Given the description of an element on the screen output the (x, y) to click on. 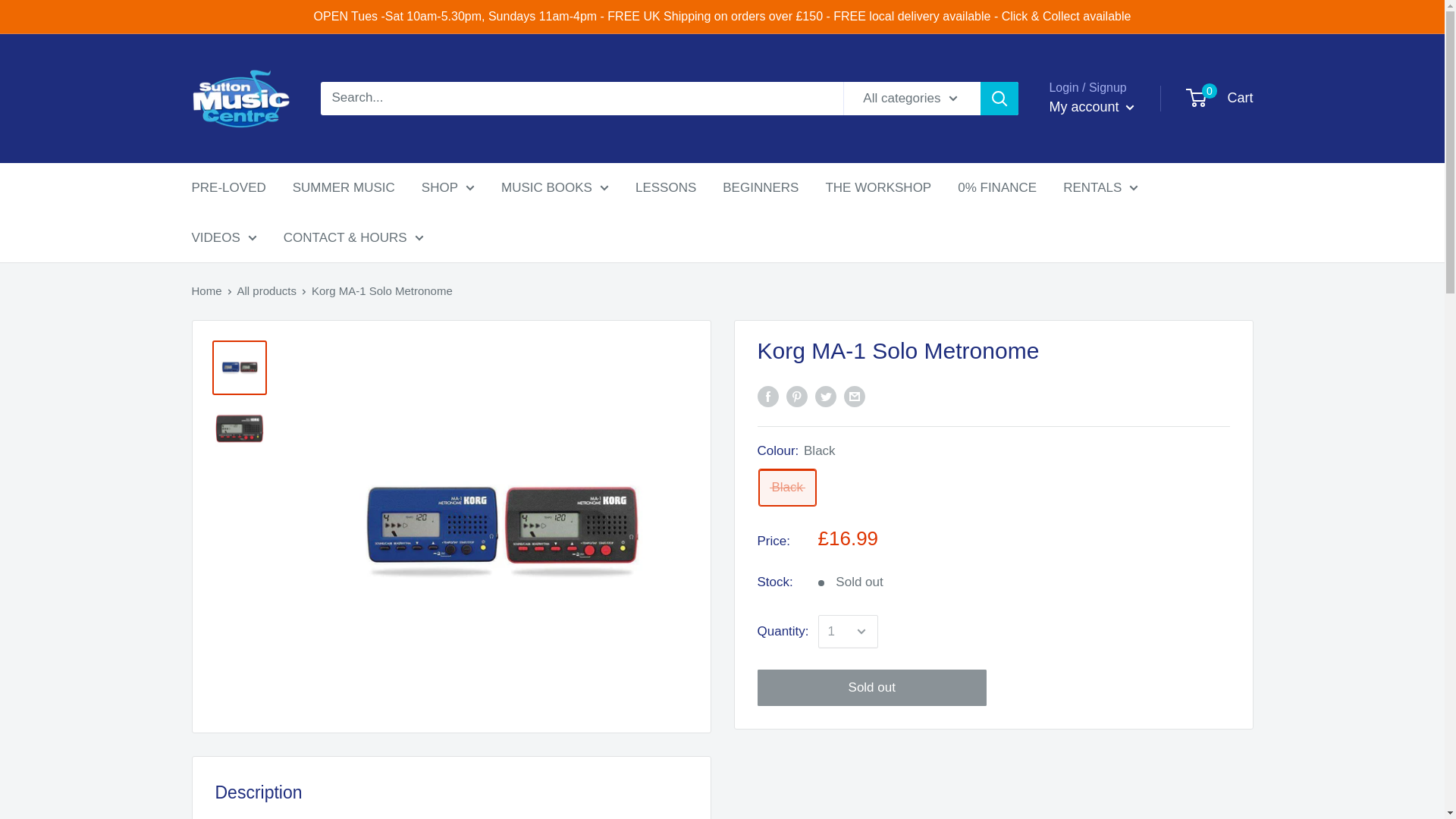
Black (786, 487)
